Given the description of an element on the screen output the (x, y) to click on. 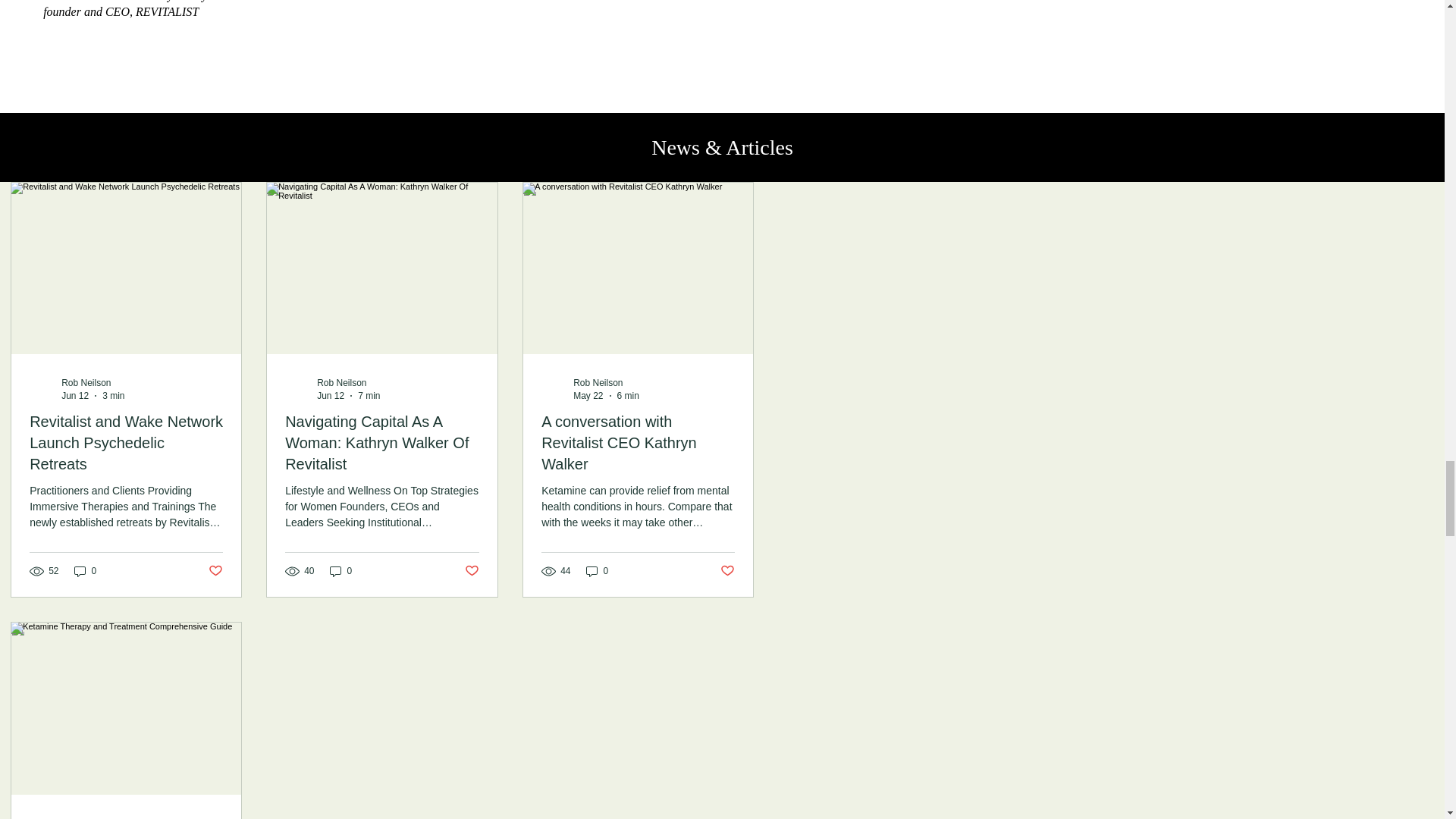
Post not marked as liked (727, 571)
Post not marked as liked (471, 571)
Rob Neilson (598, 382)
A conversation with Revitalist CEO Kathryn Walker (638, 443)
0 (341, 571)
May 22 (587, 395)
Rob Neilson (85, 382)
Navigating Capital As A Woman: Kathryn Walker Of Revitalist (382, 443)
Rob Neilson (341, 382)
Post not marked as liked (215, 571)
6 min (628, 395)
0 (597, 571)
Revitalist and Wake Network Launch Psychedelic Retreats (125, 443)
3 min (112, 395)
0 (85, 571)
